Given the description of an element on the screen output the (x, y) to click on. 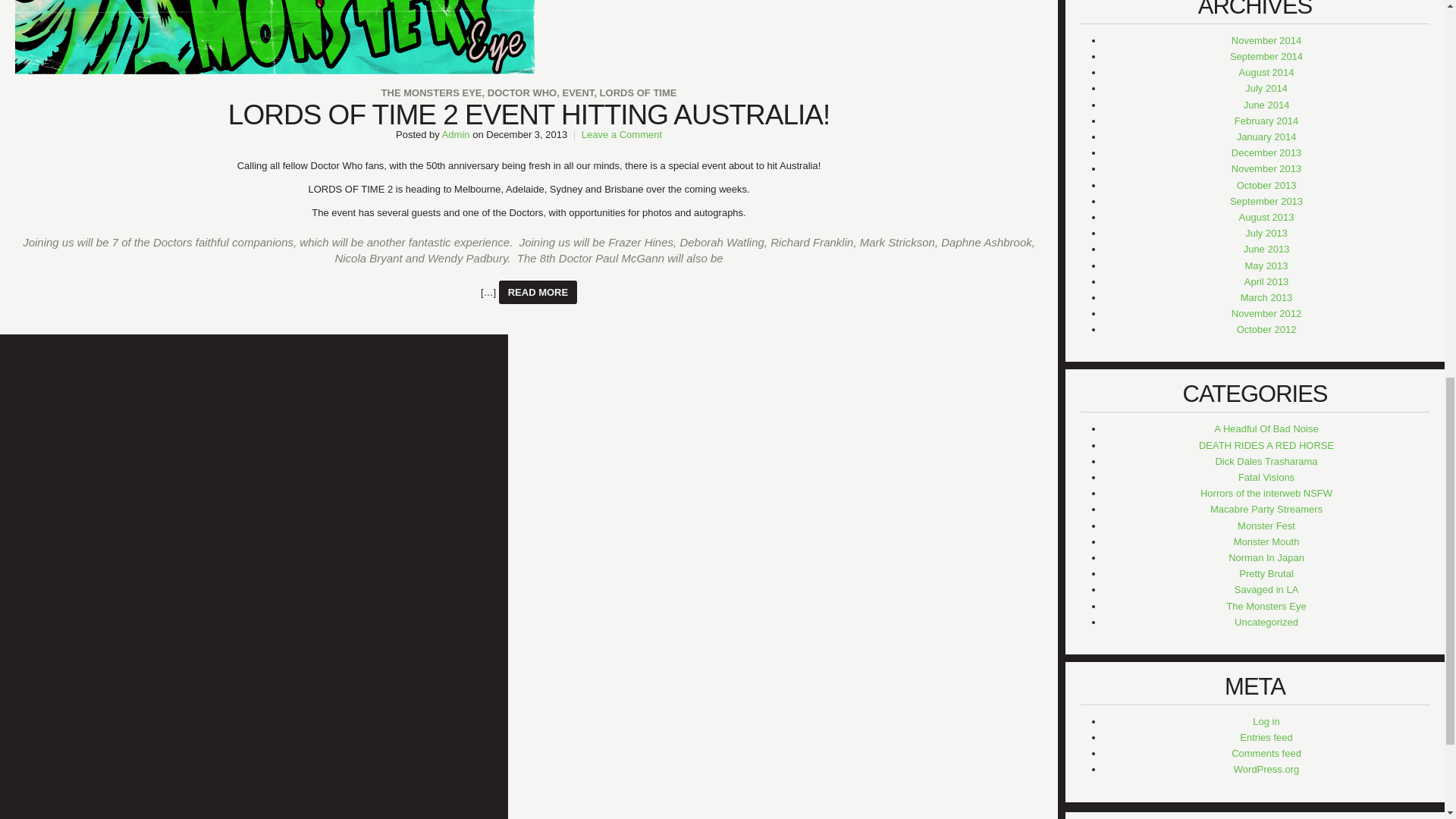
Leave a Comment (621, 134)
DOCTOR WHO (521, 92)
LORDS OF TIME 2 EVENT HITTING AUSTRALIA! (528, 114)
THE MONSTERS EYE (431, 92)
EVENT (578, 92)
Posts by Admin (456, 134)
READ MORE (537, 291)
View all posts in The Monsters Eye (431, 92)
Admin (456, 134)
LORDS OF TIME (638, 92)
